Given the description of an element on the screen output the (x, y) to click on. 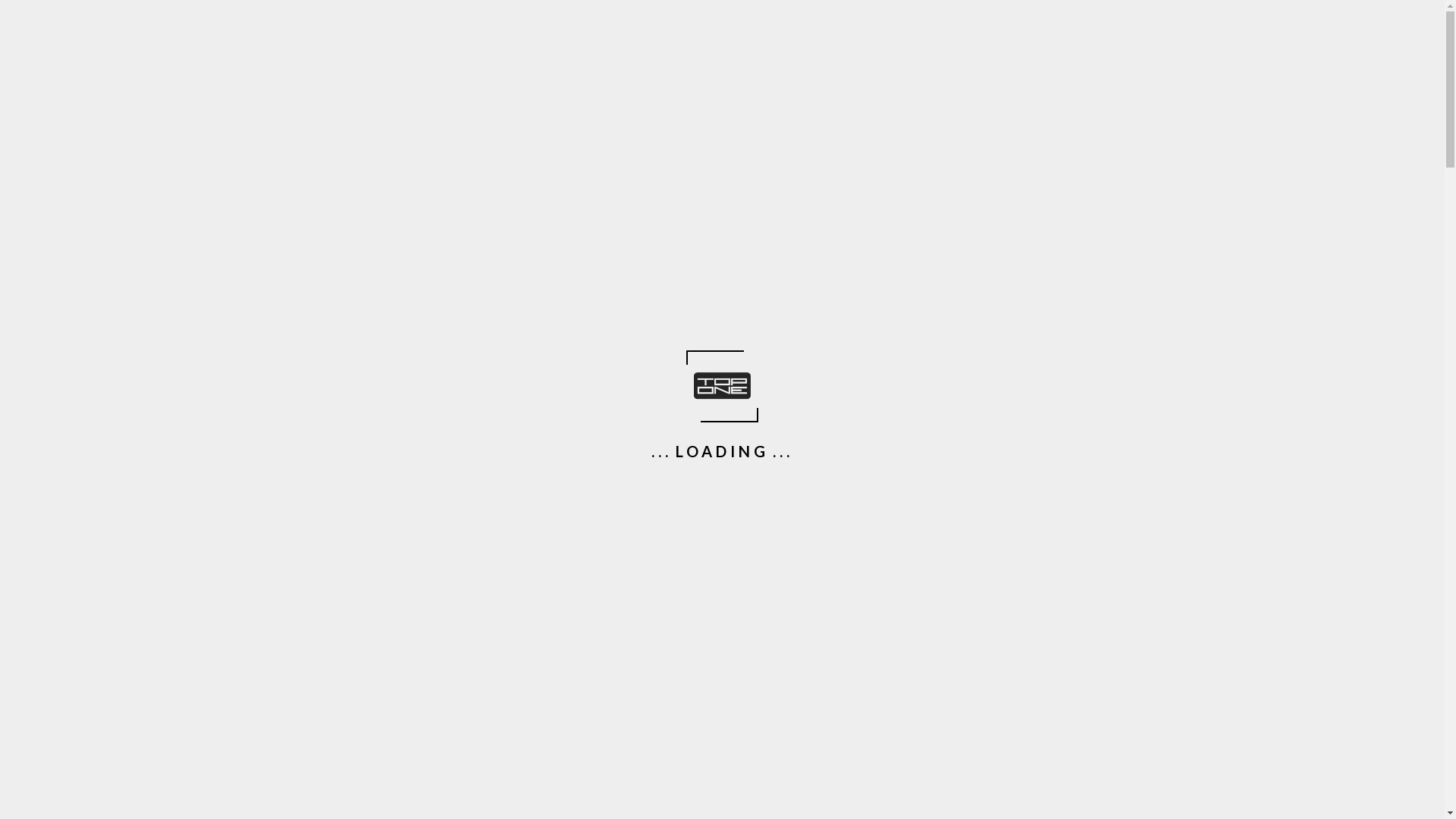
HOME Element type: text (619, 136)
CONTACT US Element type: text (1078, 136)
PORTFOLIO Element type: text (859, 136)
CHI Element type: text (285, 27)
MEDIA Element type: text (997, 136)
ABOUT US Element type: text (691, 136)
Facebook Element type: text (776, 10)
BLOG Element type: text (935, 136)
SERVICES Element type: text (773, 136)
EN Element type: text (282, 47)
Get Quote Element type: text (721, 663)
